Given the description of an element on the screen output the (x, y) to click on. 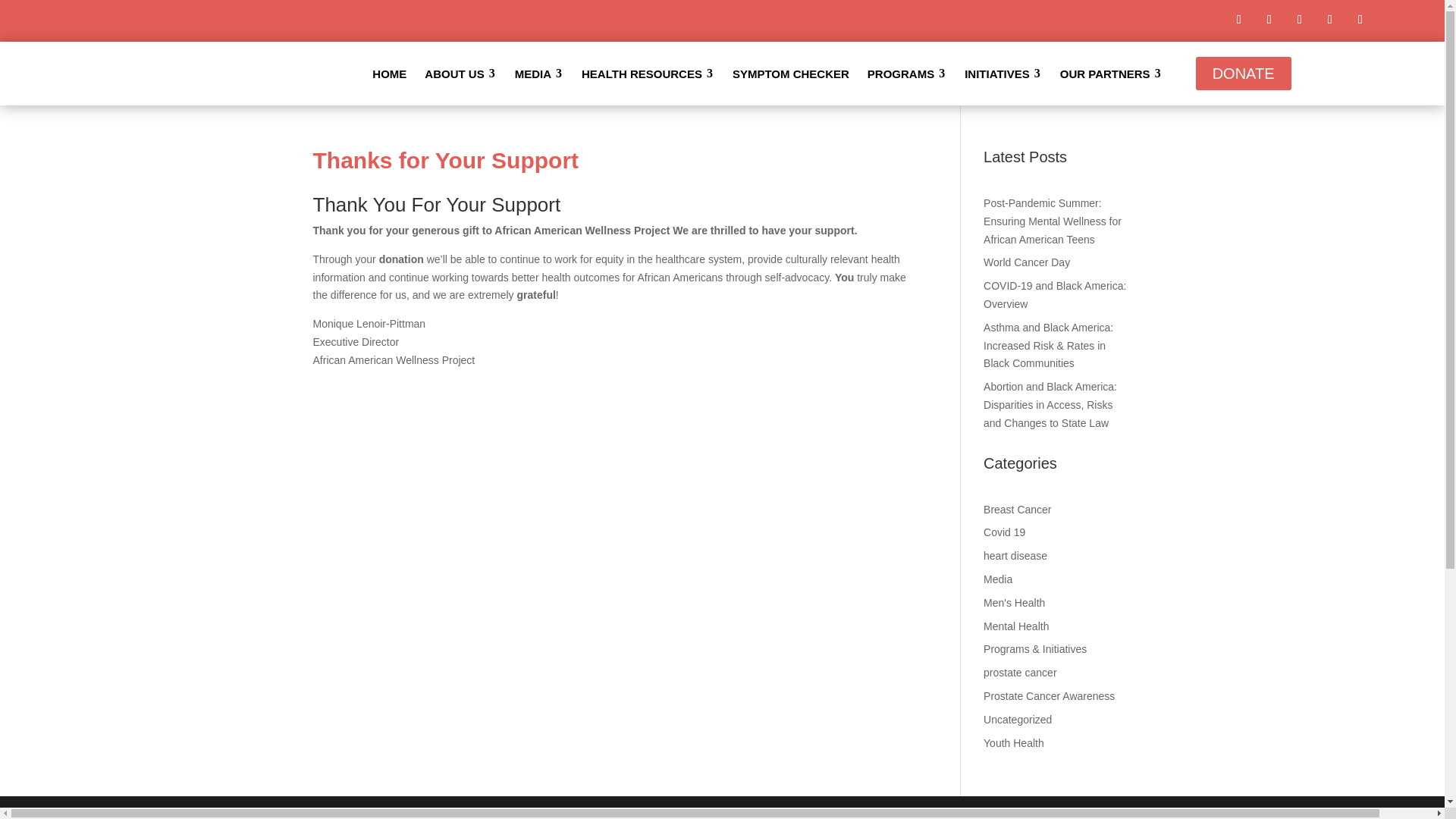
Follow on LinkedIn (1329, 19)
Follow on Youtube (1360, 19)
INITIATIVES (1003, 73)
HOME (388, 73)
HEALTH RESOURCES (647, 73)
Follow on Twitter (1299, 19)
SYMPTOM CHECKER (791, 73)
Follow on Facebook (1238, 19)
Follow on Instagram (1269, 19)
PROGRAMS (907, 73)
MEDIA (538, 73)
ABOUT US (459, 73)
